Given the description of an element on the screen output the (x, y) to click on. 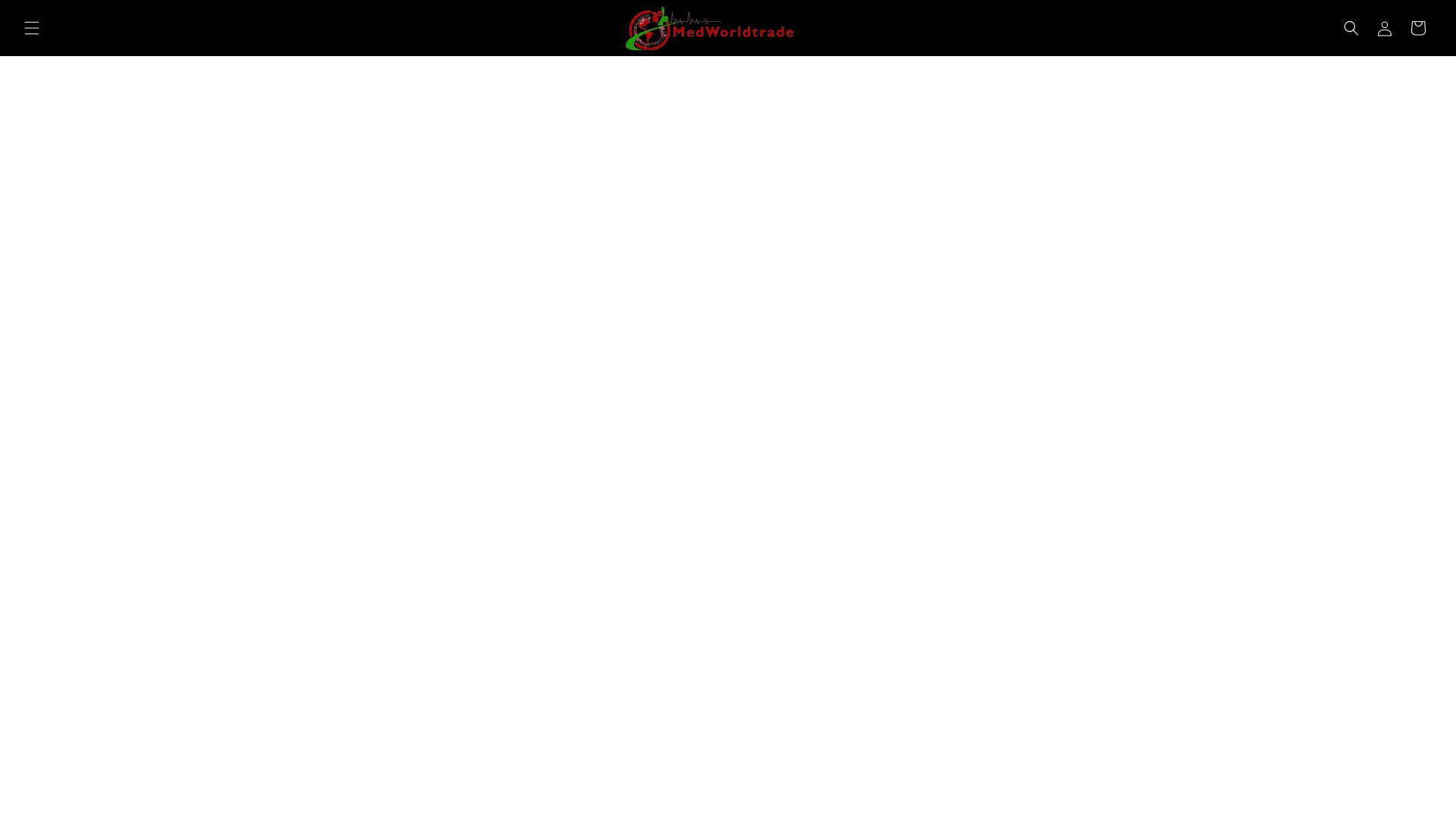
Skip to content (45, 17)
